Given the description of an element on the screen output the (x, y) to click on. 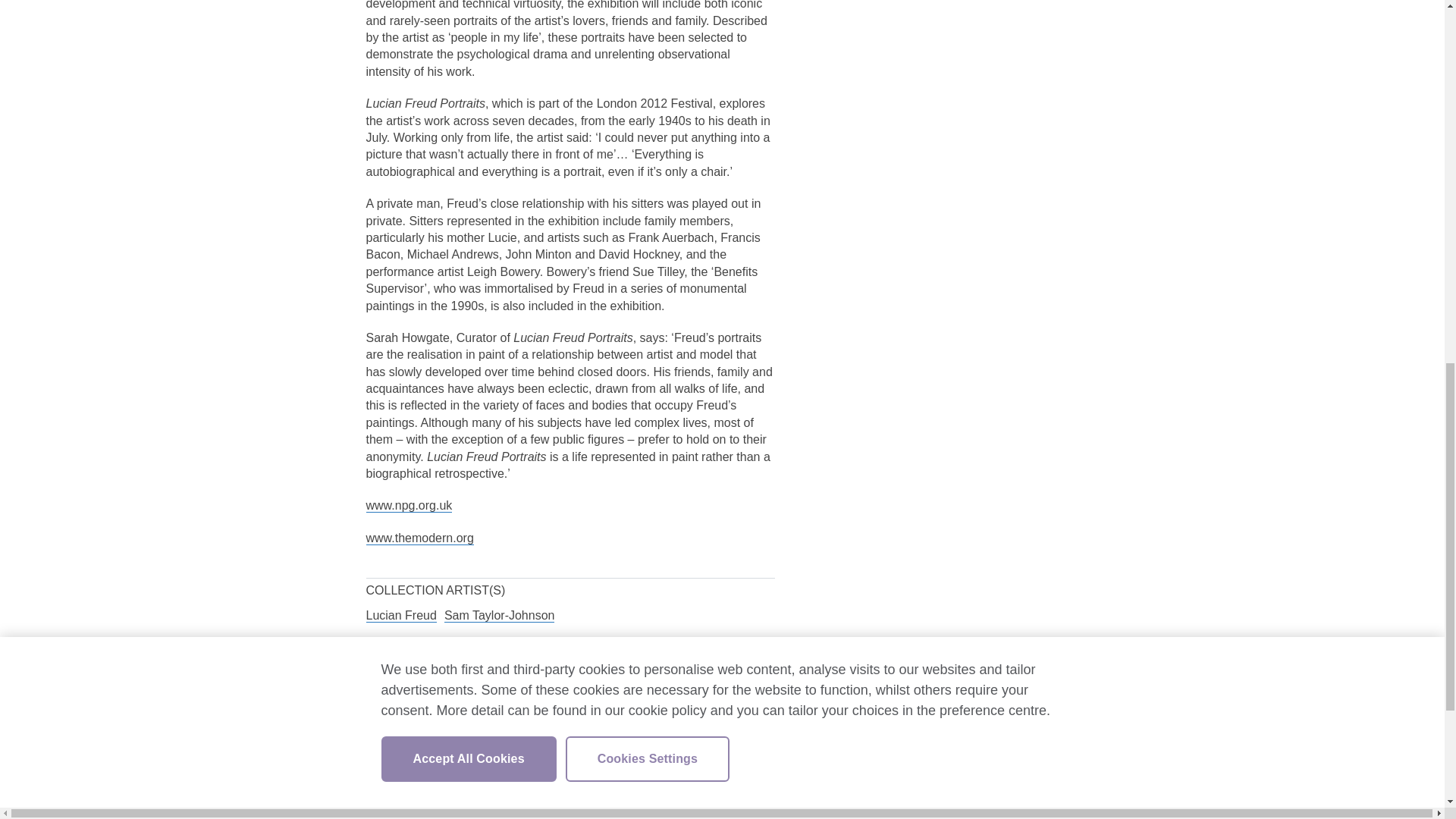
Programmes (424, 750)
Curator (395, 698)
Go to Sam Taylor-Johnson (499, 615)
Read more about Curator (395, 698)
www.themodern.org (419, 538)
Lucian Freud (400, 615)
Sam Taylor-Johnson (499, 615)
Go to Lucian Freud (400, 615)
www.npg.org.uk (408, 505)
